Given the description of an element on the screen output the (x, y) to click on. 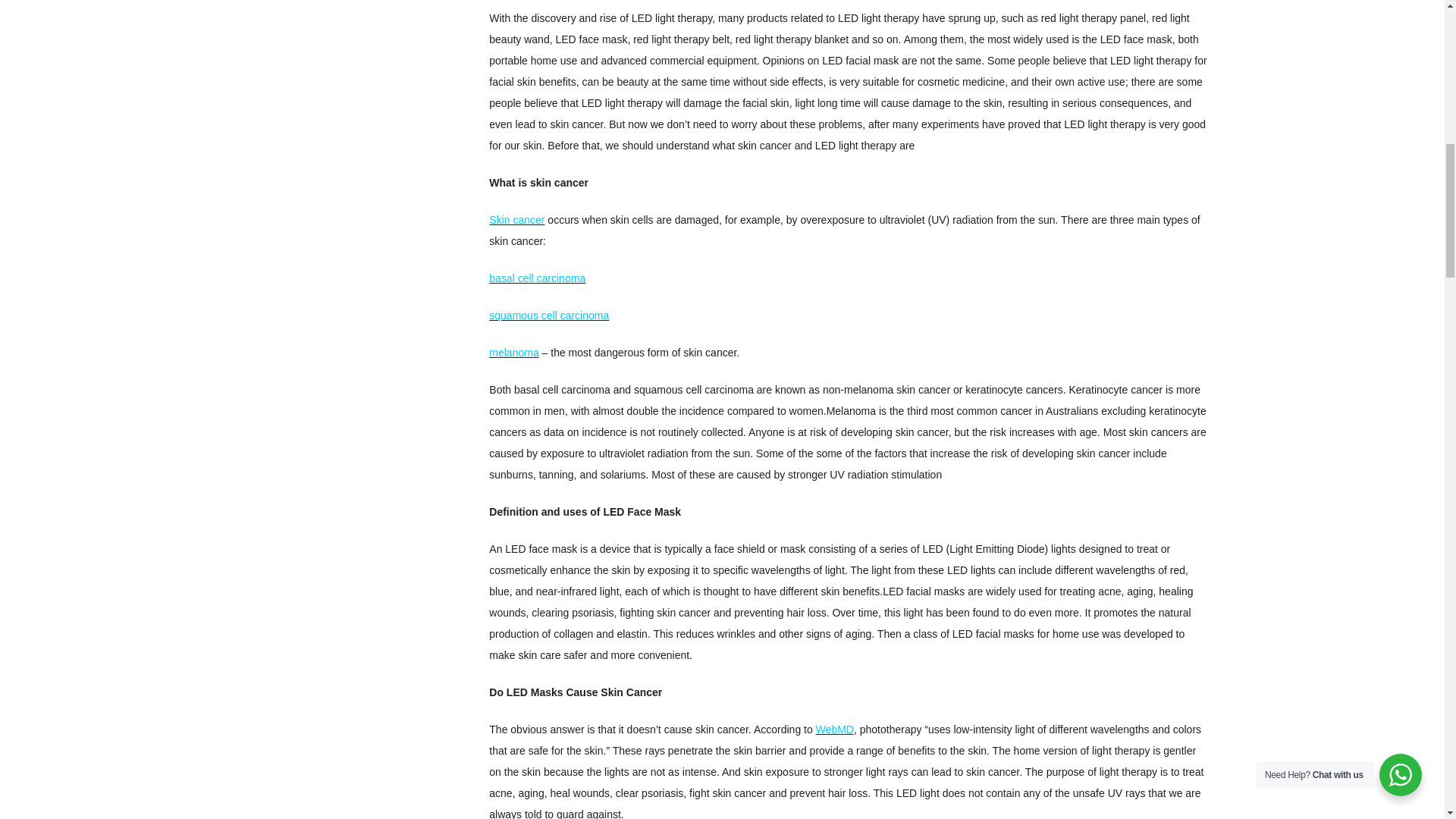
squamous cell carcinoma (548, 315)
Skin cancer (516, 219)
basal cell carcinoma (537, 277)
melanoma (513, 352)
WebMD (834, 729)
